Given the description of an element on the screen output the (x, y) to click on. 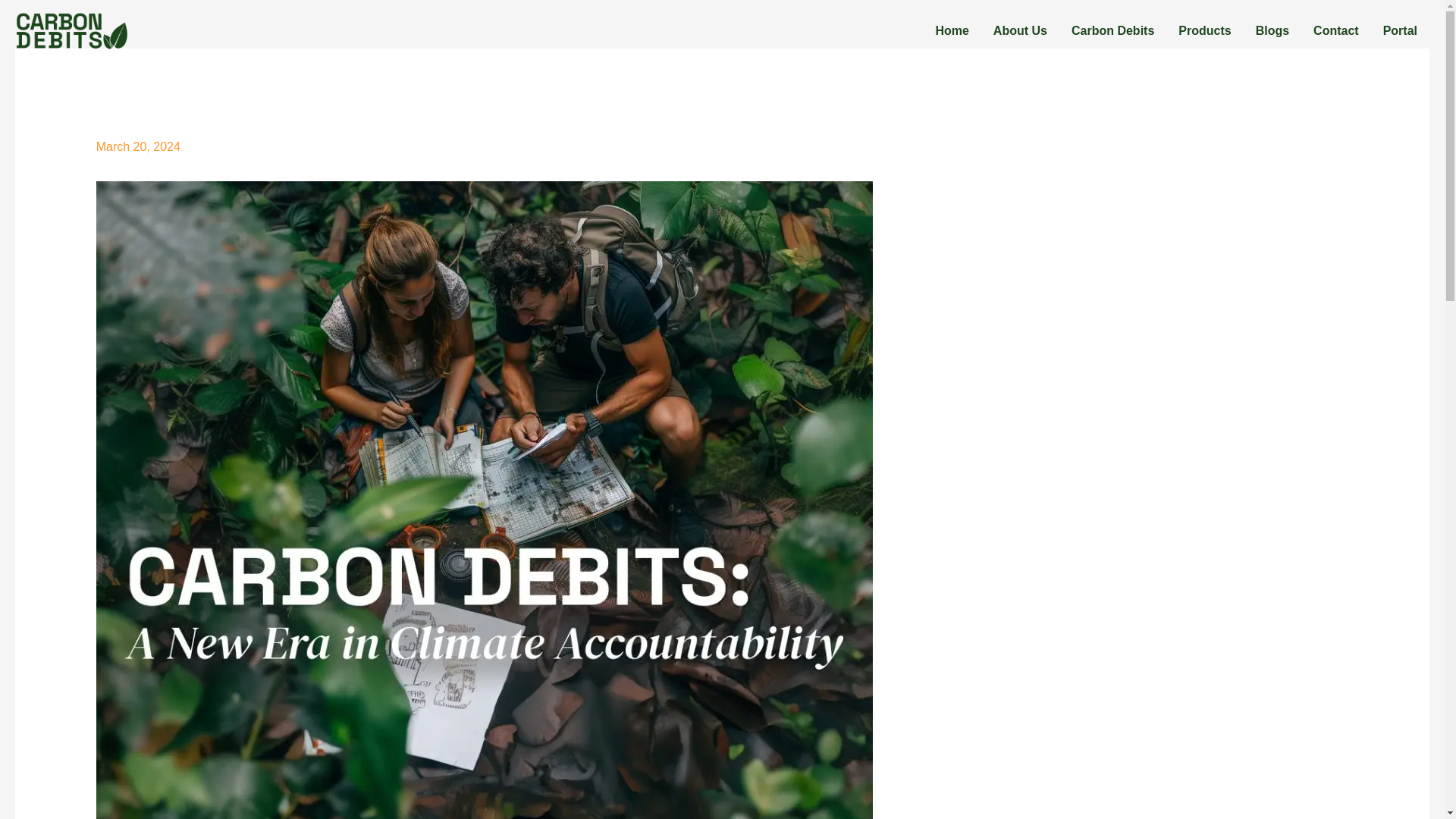
Products (1204, 30)
Home (951, 30)
Blogs (1272, 30)
About Us (1020, 30)
Contact (1336, 30)
Carbon Debits (1112, 30)
Portal (1400, 30)
